Given the description of an element on the screen output the (x, y) to click on. 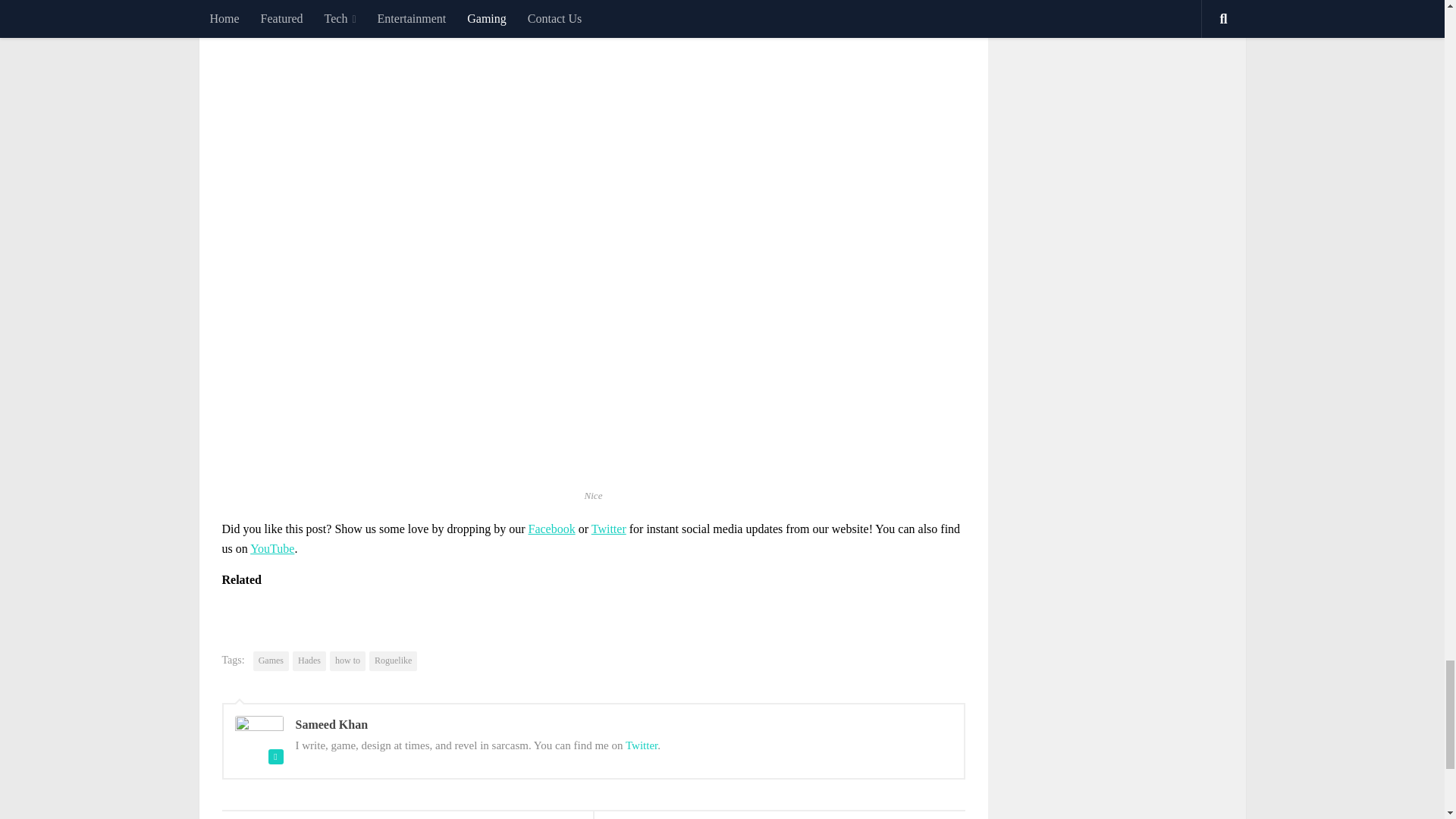
Roguelike (392, 660)
Games (270, 660)
YouTube (272, 548)
Twitter (608, 528)
how to (347, 660)
Hades (309, 660)
Twitter (642, 745)
Facebook (551, 528)
